Given the description of an element on the screen output the (x, y) to click on. 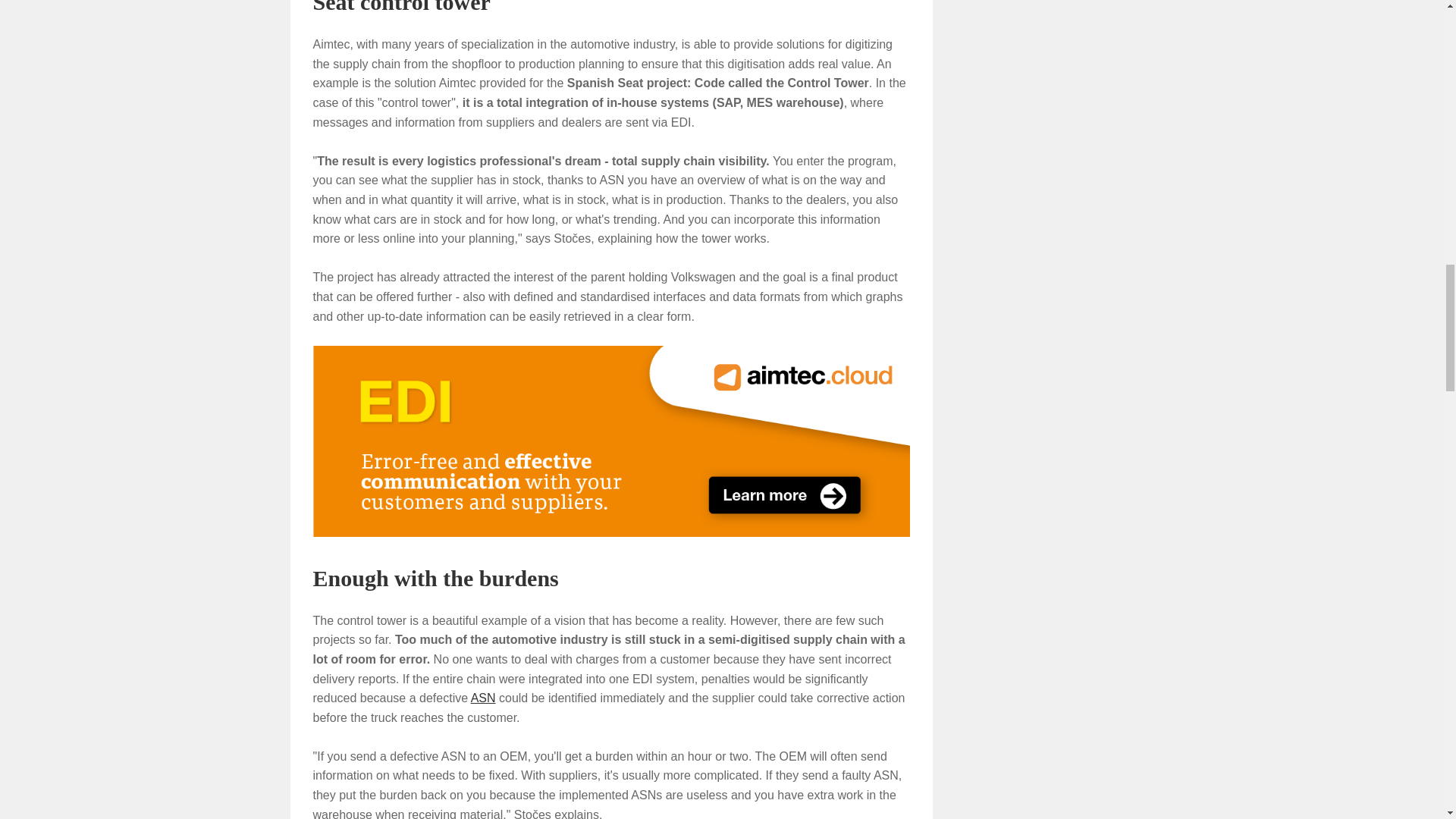
EDI communication (611, 440)
ASN (483, 697)
EDI communication in automotive (611, 441)
ASN (483, 697)
